Given the description of an element on the screen output the (x, y) to click on. 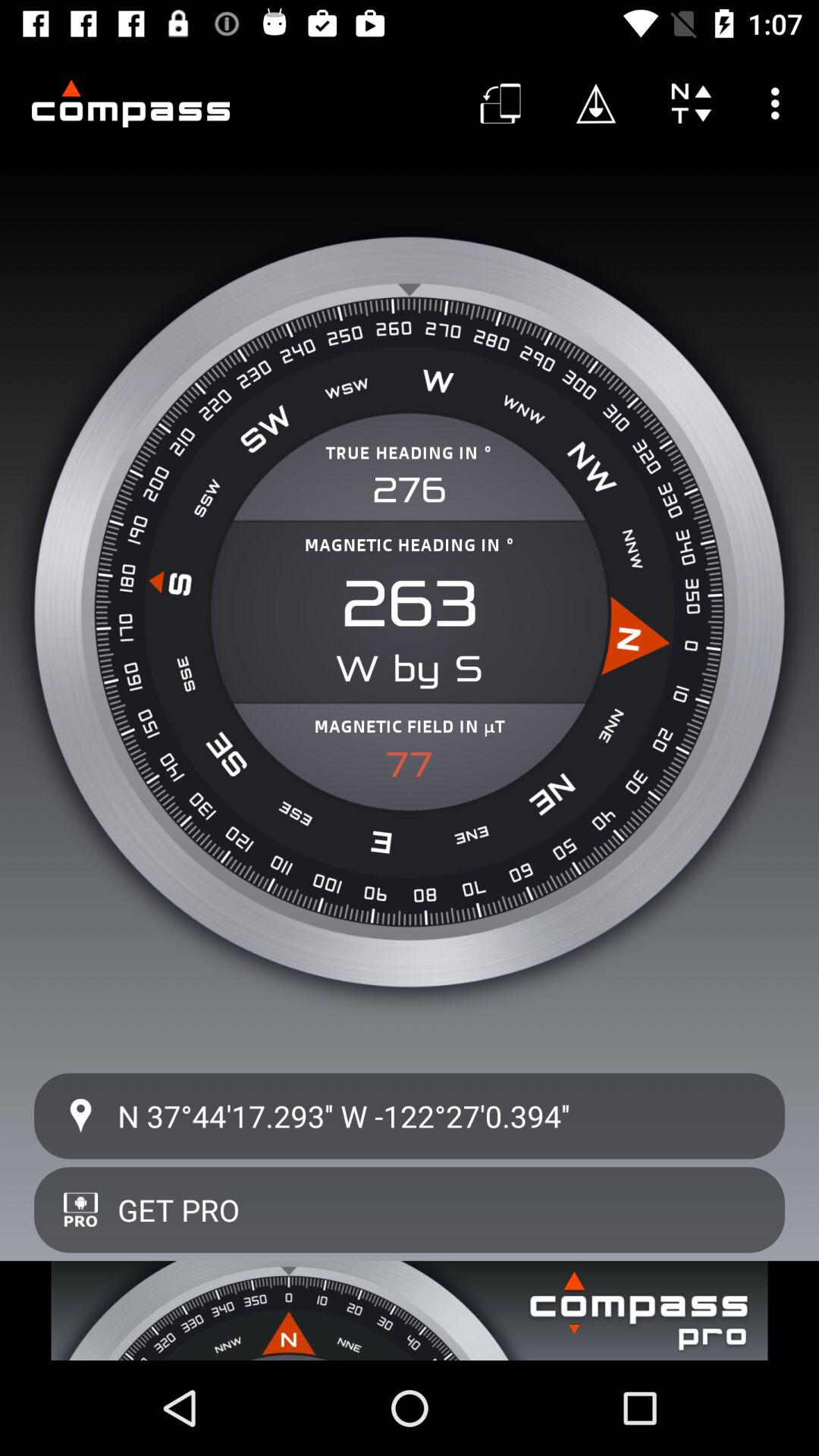
click 262 icon (409, 603)
